Given the description of an element on the screen output the (x, y) to click on. 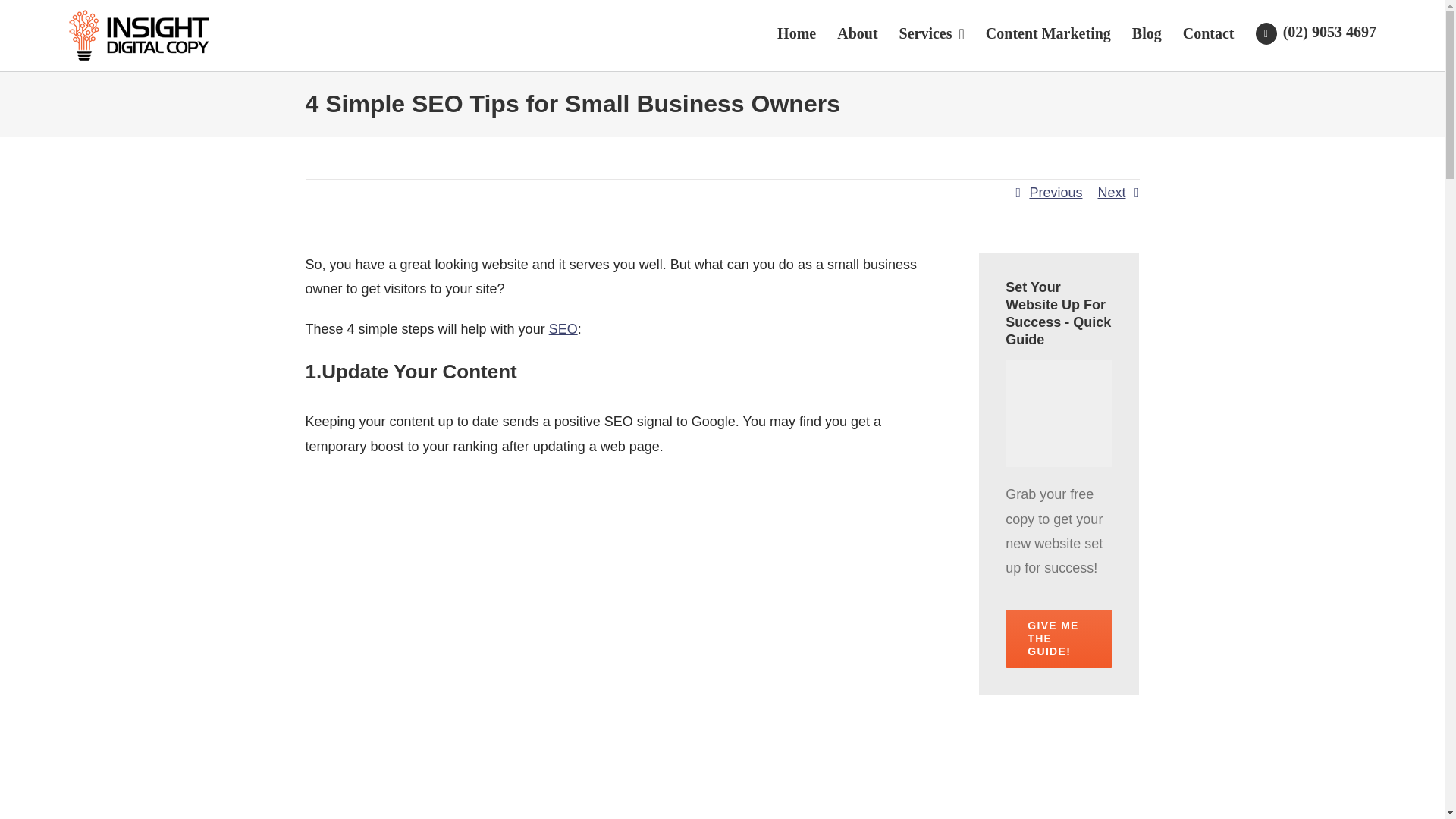
Next (1111, 192)
Content Marketing Sydney (1047, 31)
Previous (1055, 192)
Services (931, 31)
SEO (563, 328)
Set Your Website Up For Success - Quick Guide (1059, 313)
Content Marketing (1047, 31)
GIVE ME THE GUIDE! (1059, 638)
